Given the description of an element on the screen output the (x, y) to click on. 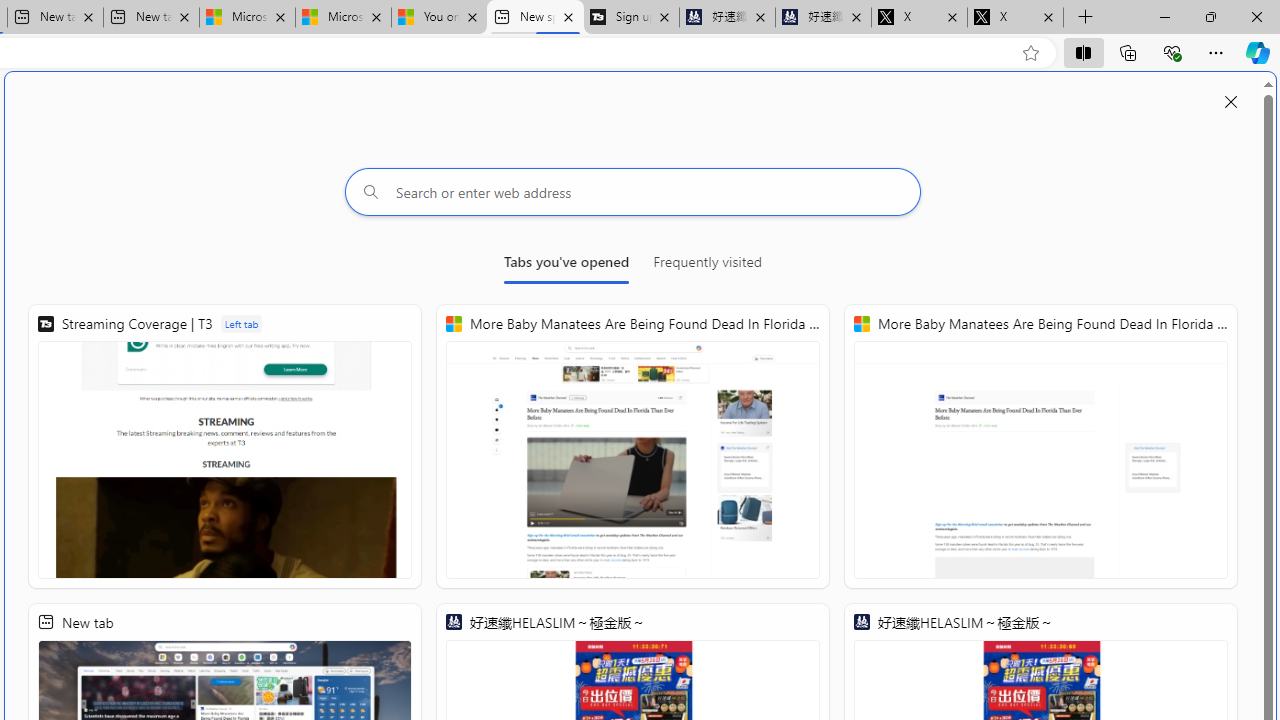
Frequently visited (707, 265)
Search or enter web address (633, 191)
Close split screen (1231, 102)
New split screen (534, 17)
